Given the description of an element on the screen output the (x, y) to click on. 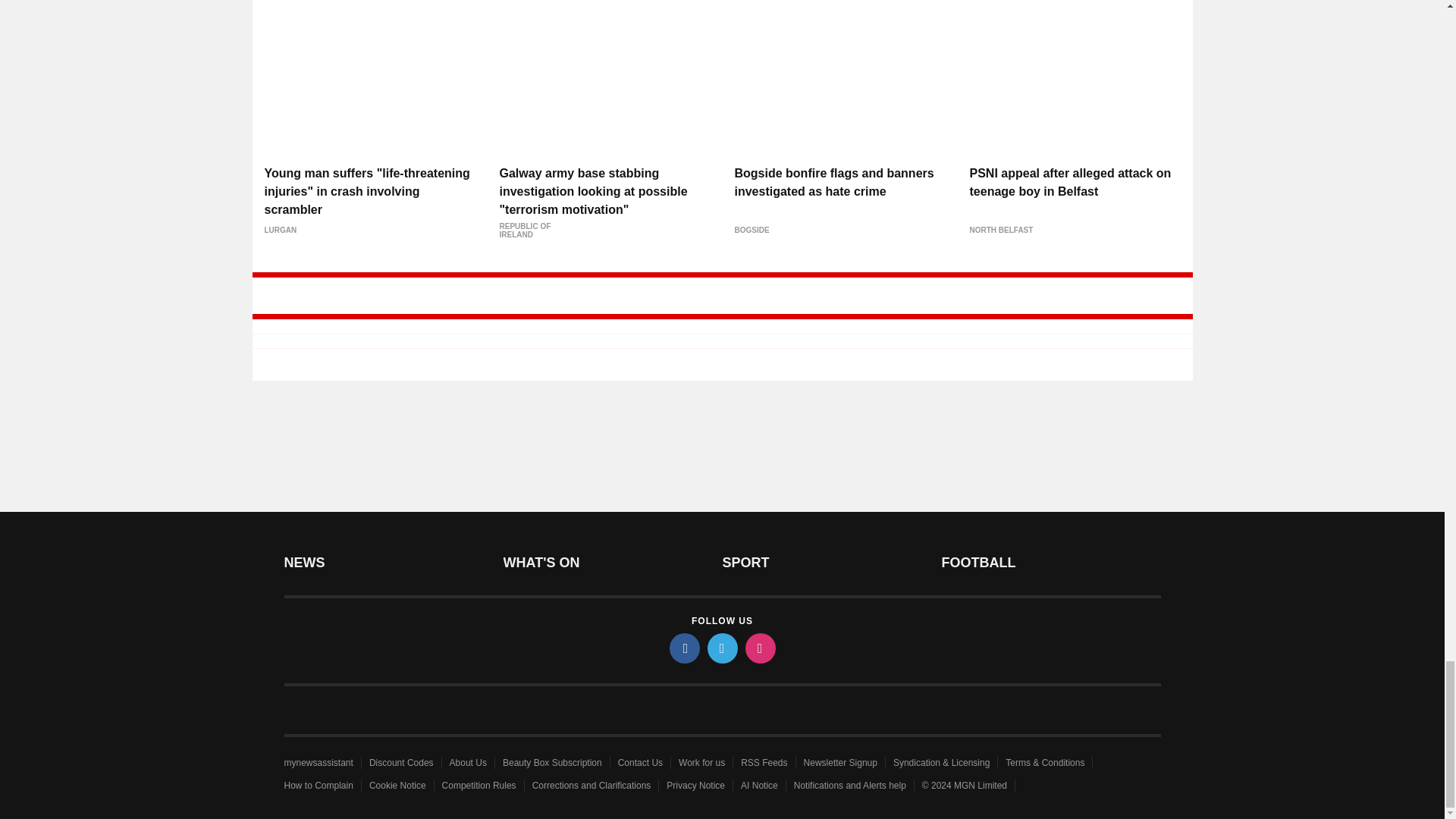
instagram (759, 648)
facebook (683, 648)
twitter (721, 648)
